Given the description of an element on the screen output the (x, y) to click on. 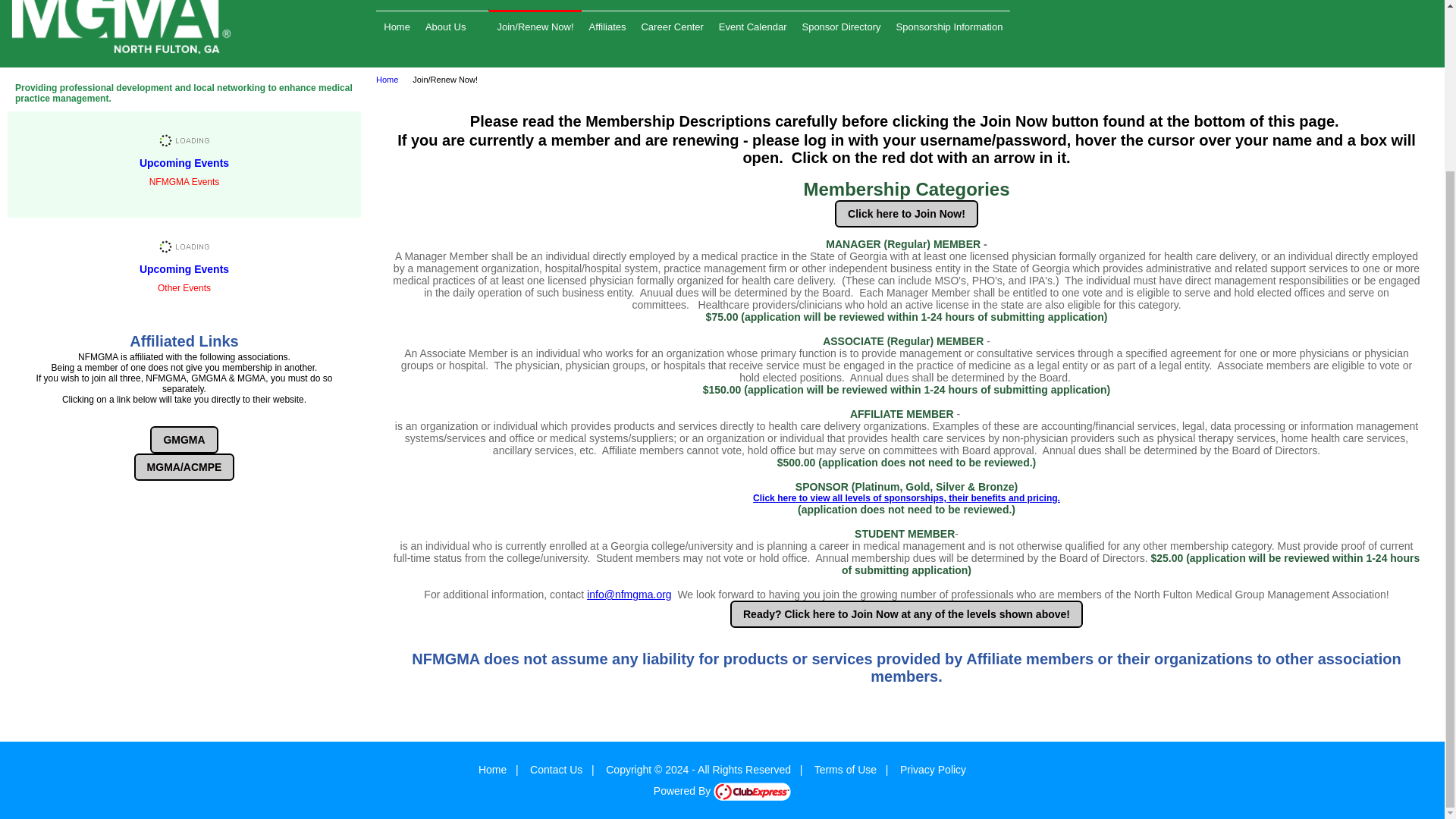
Affiliates (606, 25)
Menu (692, 25)
Career Center (671, 25)
GMGMA (182, 439)
Other Events (183, 270)
Sponsorship Information (949, 25)
Click here to Join Now! (906, 213)
Terms of Use (844, 769)
Privacy Policy (932, 769)
Event Calendar (752, 25)
NFMGMA Events (183, 163)
Home (396, 25)
Sponsor Directory (840, 25)
